Given the description of an element on the screen output the (x, y) to click on. 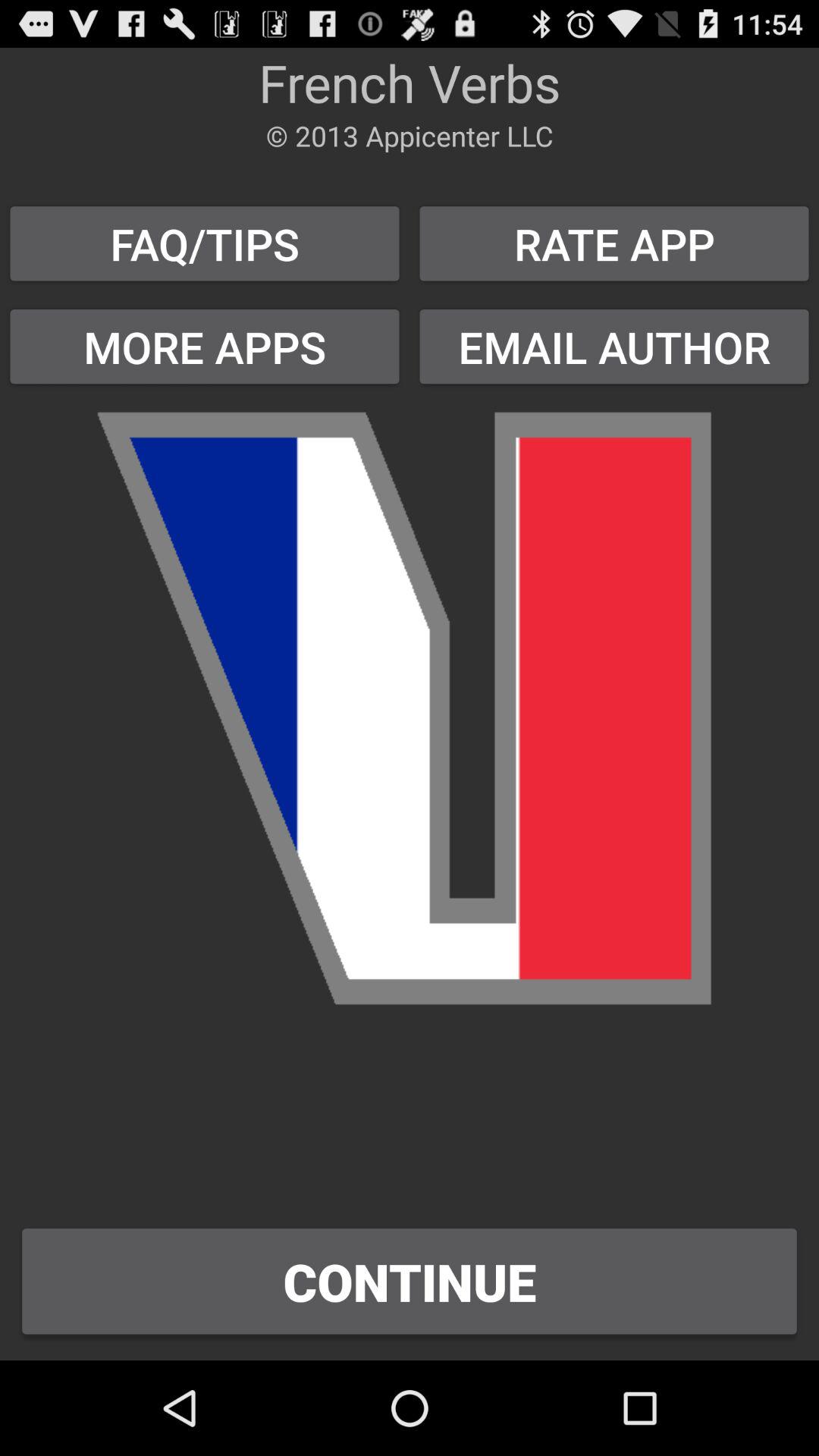
turn off email author button (613, 346)
